Given the description of an element on the screen output the (x, y) to click on. 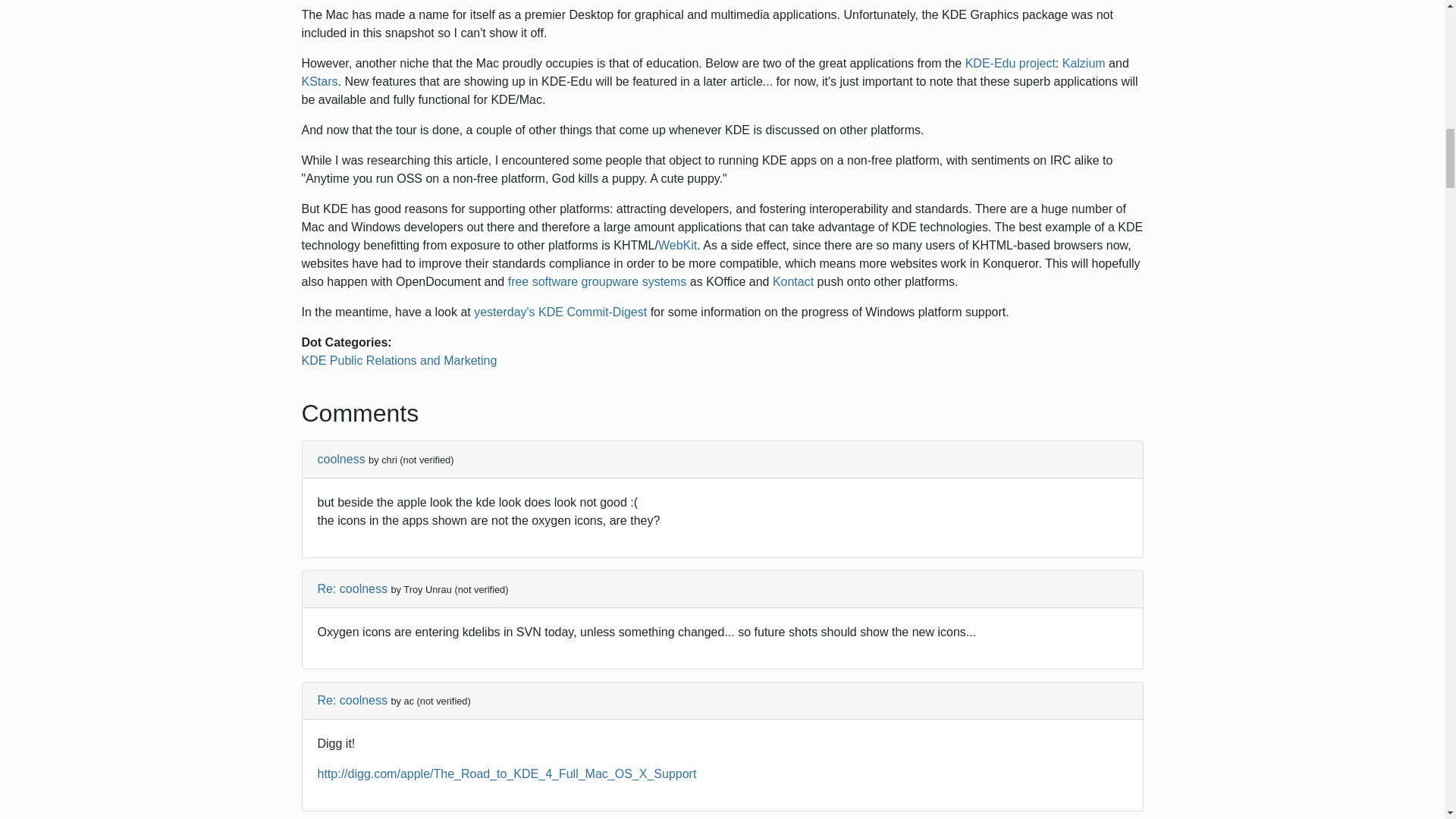
WebKit (677, 245)
free software groupware systems (597, 281)
KStars (319, 81)
Kalzium (1083, 62)
yesterday's KDE Commit-Digest (560, 311)
KDE-Edu project (1010, 62)
Kontact (793, 281)
